Given the description of an element on the screen output the (x, y) to click on. 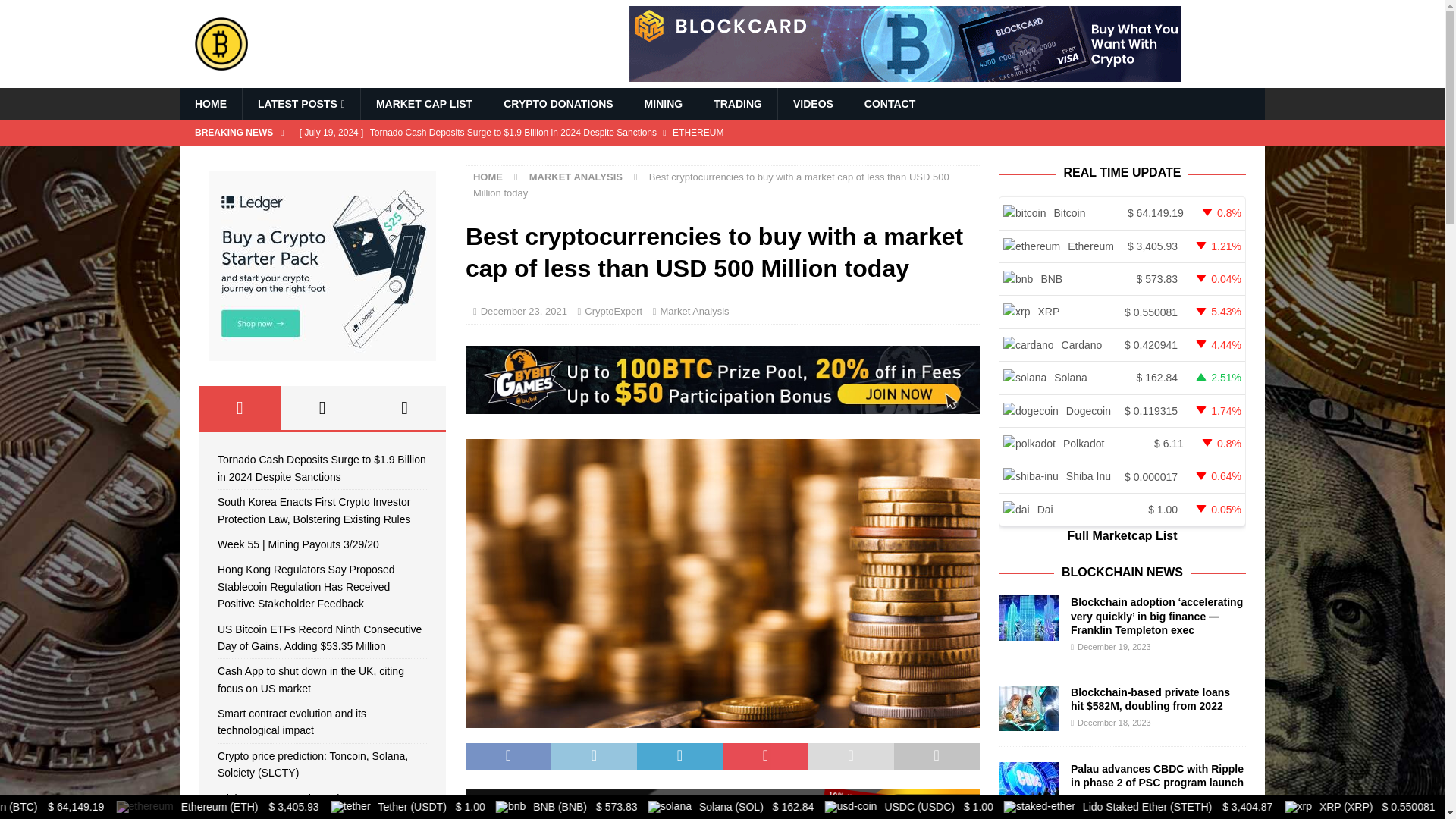
HOME (210, 103)
LATEST POSTS (300, 103)
